Given the description of an element on the screen output the (x, y) to click on. 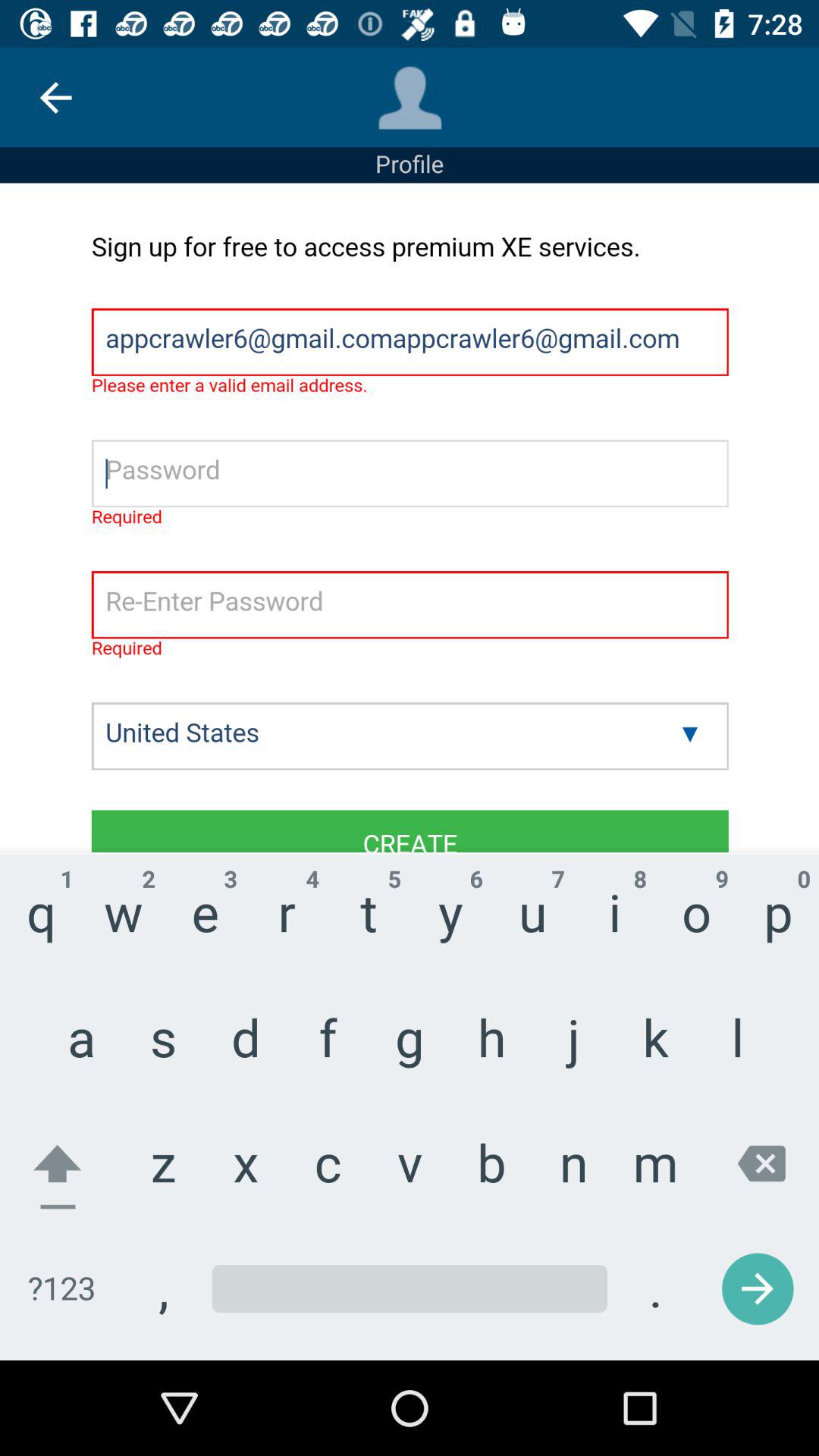
input information (409, 771)
